Given the description of an element on the screen output the (x, y) to click on. 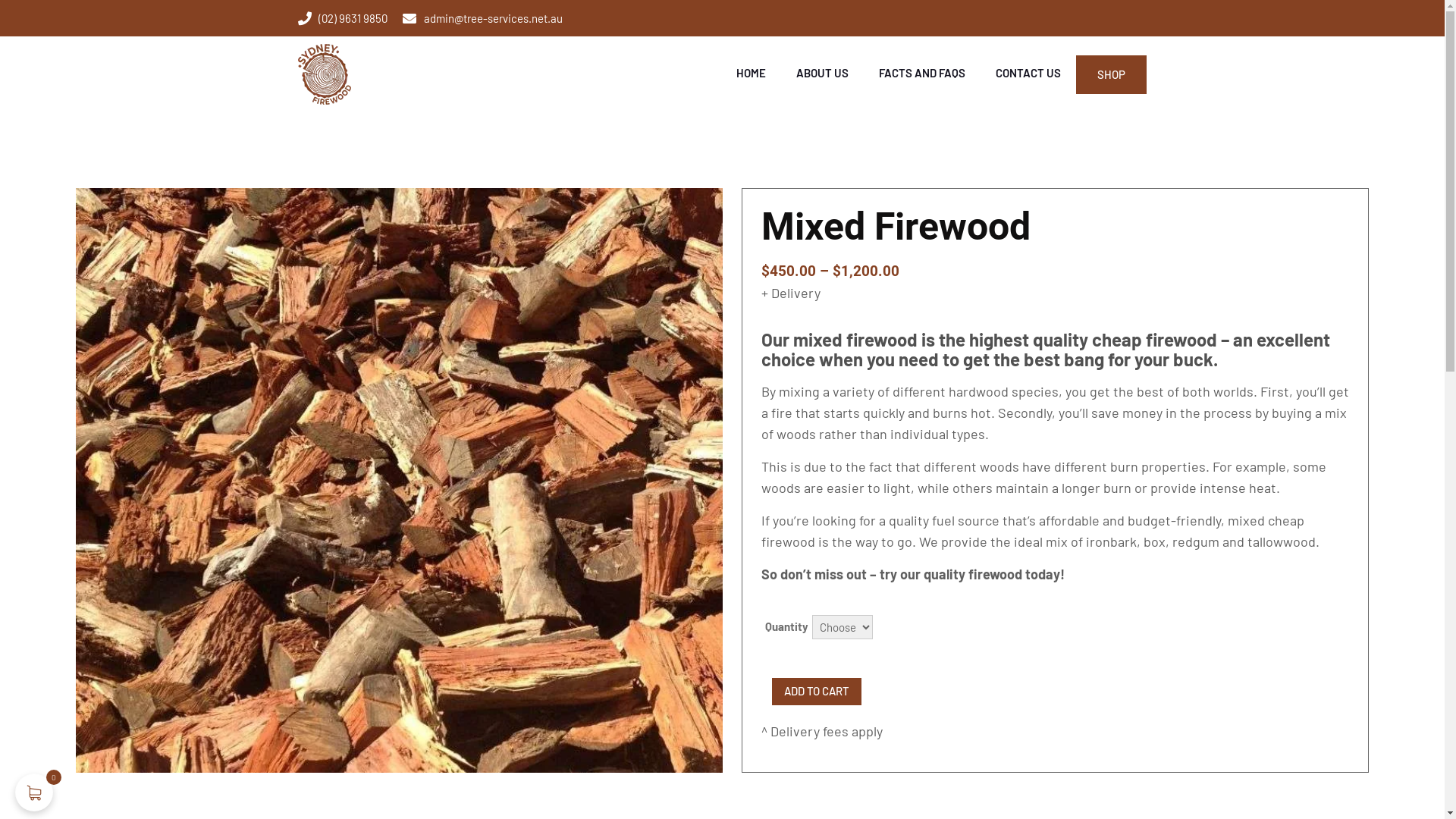
(02) 9631 9850 Element type: text (342, 17)
CONTACT US Element type: text (1028, 71)
HOME Element type: text (751, 71)
FACTS AND FAQS Element type: text (921, 71)
ADD TO CART Element type: text (816, 691)
admin@tree-services.net.au Element type: text (482, 17)
SHOP Element type: text (1111, 73)
ABOUT US Element type: text (822, 71)
